Given the description of an element on the screen output the (x, y) to click on. 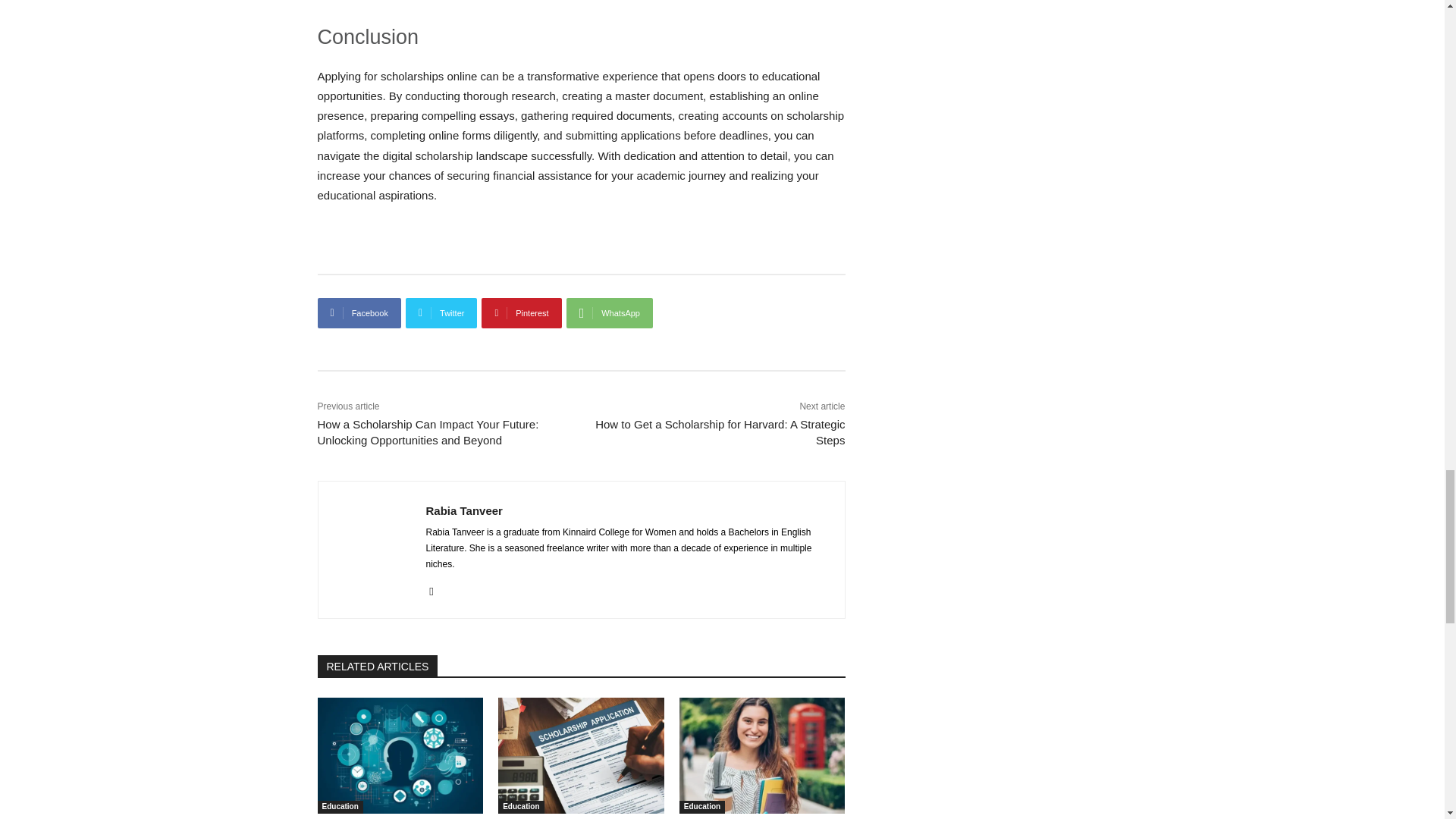
Instagram (432, 588)
Guide To Product Hunting And Navigate The Digital Maze (400, 755)
Facebook (358, 313)
WhatsApp (609, 313)
Pinterest (520, 313)
Twitter (441, 313)
How to Get A Scholarship: The Process Explained (580, 755)
